Given the description of an element on the screen output the (x, y) to click on. 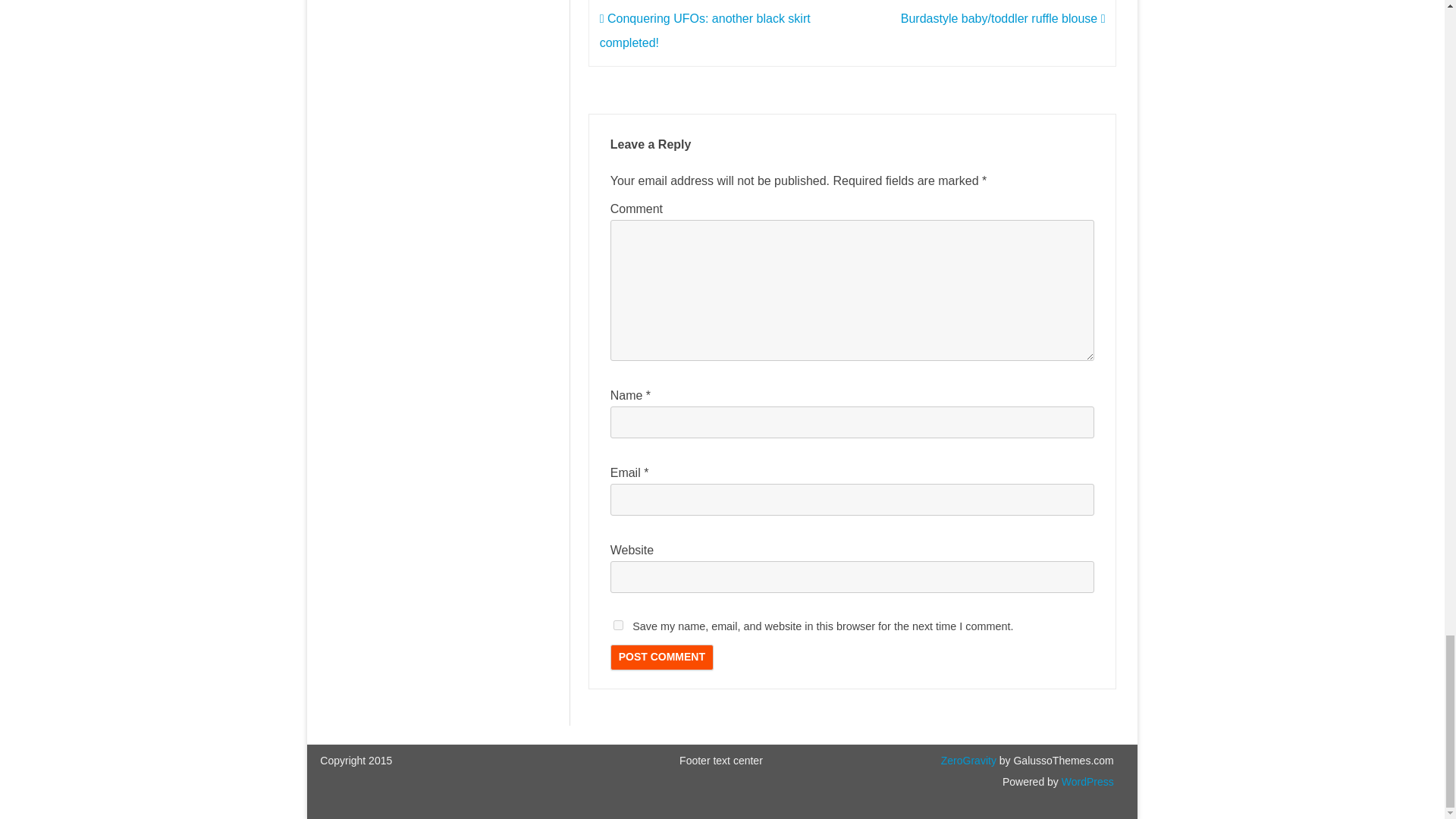
yes (617, 624)
Post Comment (661, 657)
